Given the description of an element on the screen output the (x, y) to click on. 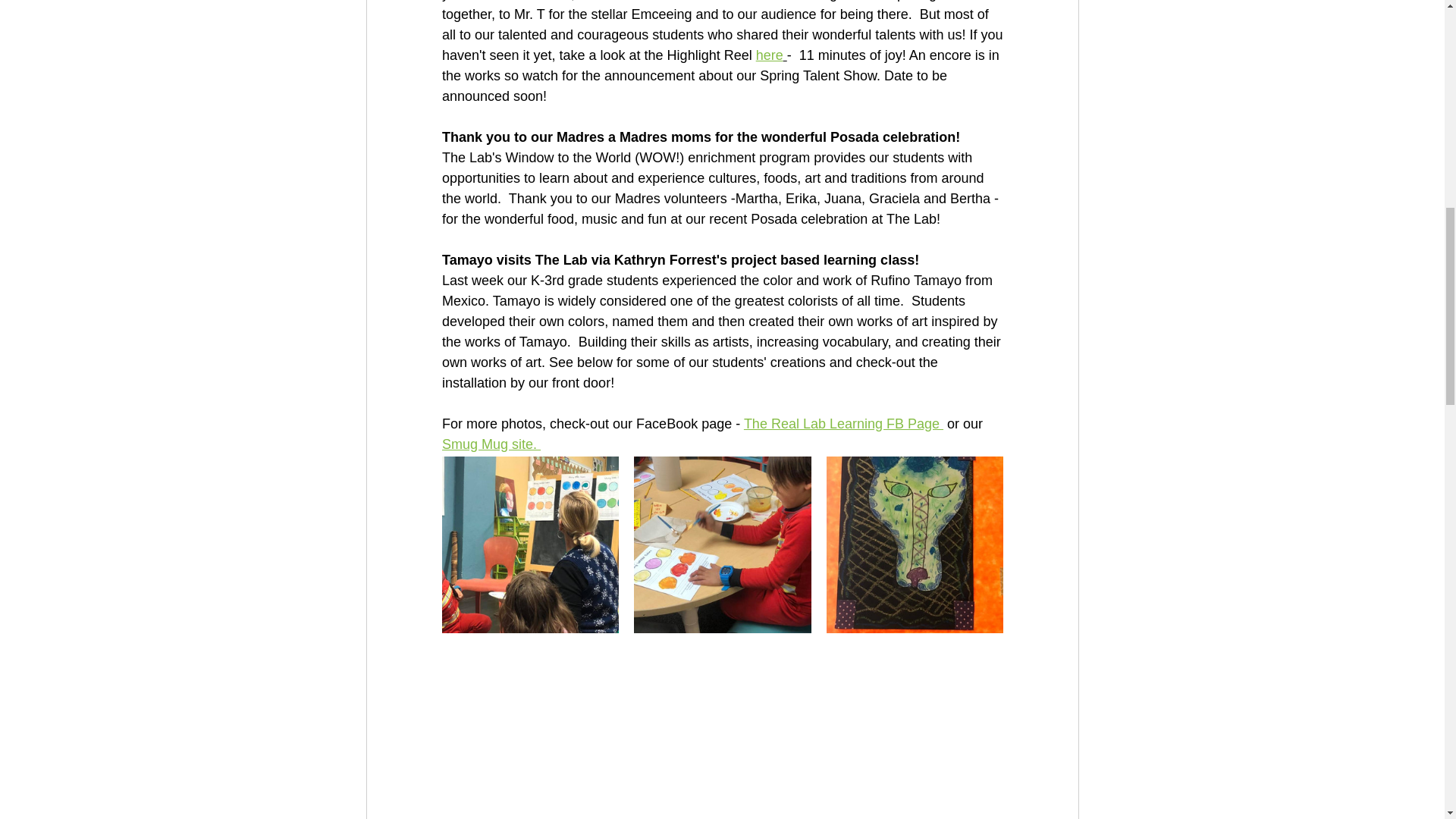
The Real Lab Learning FB Page  (842, 423)
here (769, 55)
Smug Mug site.  (490, 444)
